Given the description of an element on the screen output the (x, y) to click on. 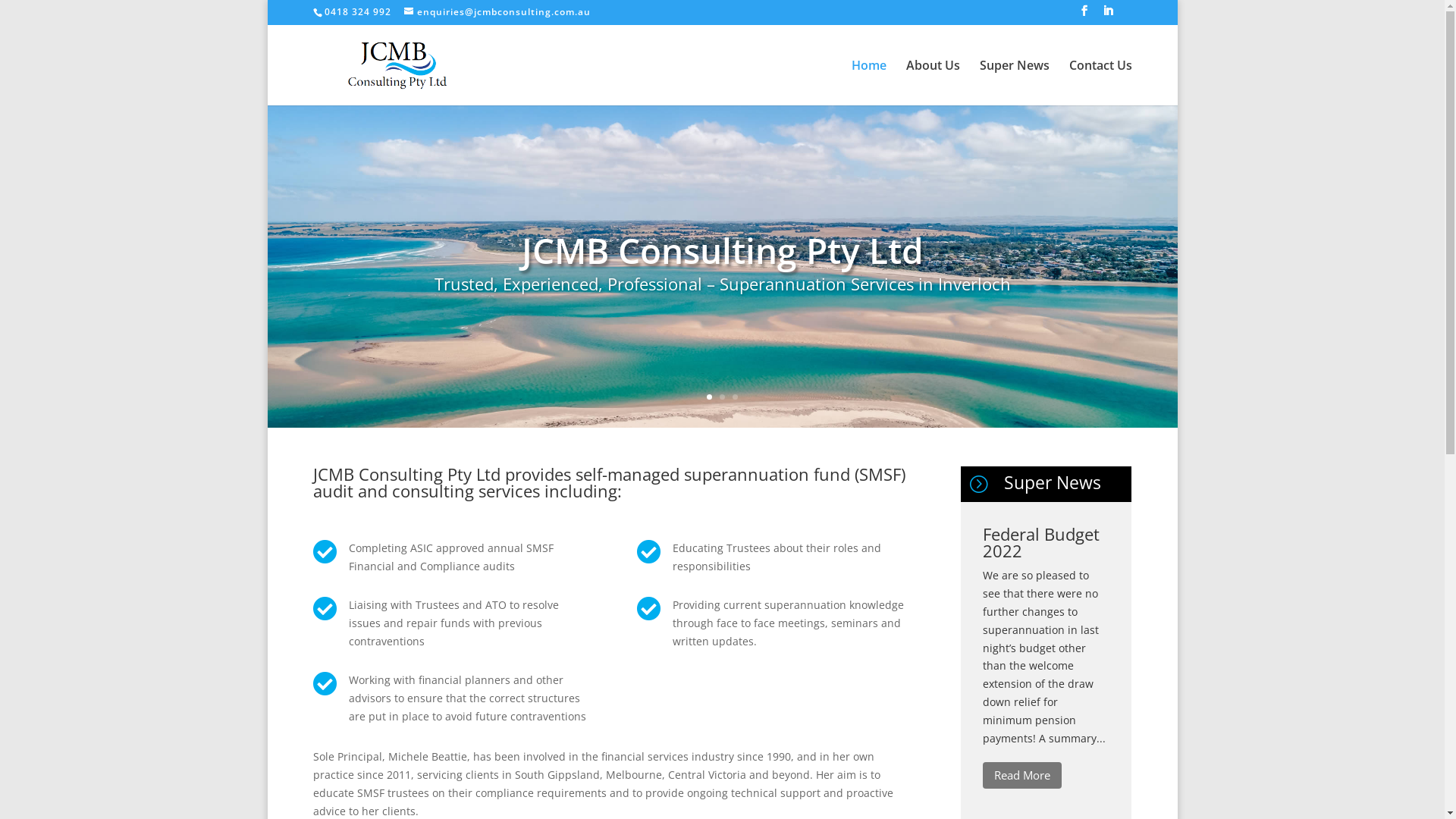
0418 324 992 Element type: text (356, 11)
3 Element type: text (734, 396)
Contact Us Element type: text (1100, 81)
Read More Element type: text (1021, 775)
2 Element type: text (721, 396)
Home Element type: text (867, 81)
enquiries@jcmbconsulting.com.au Element type: text (496, 11)
Super News Element type: text (1014, 81)
Federal Budget 2022 Element type: text (1040, 541)
1 Element type: text (709, 396)
About Us Element type: text (932, 81)
